Given the description of an element on the screen output the (x, y) to click on. 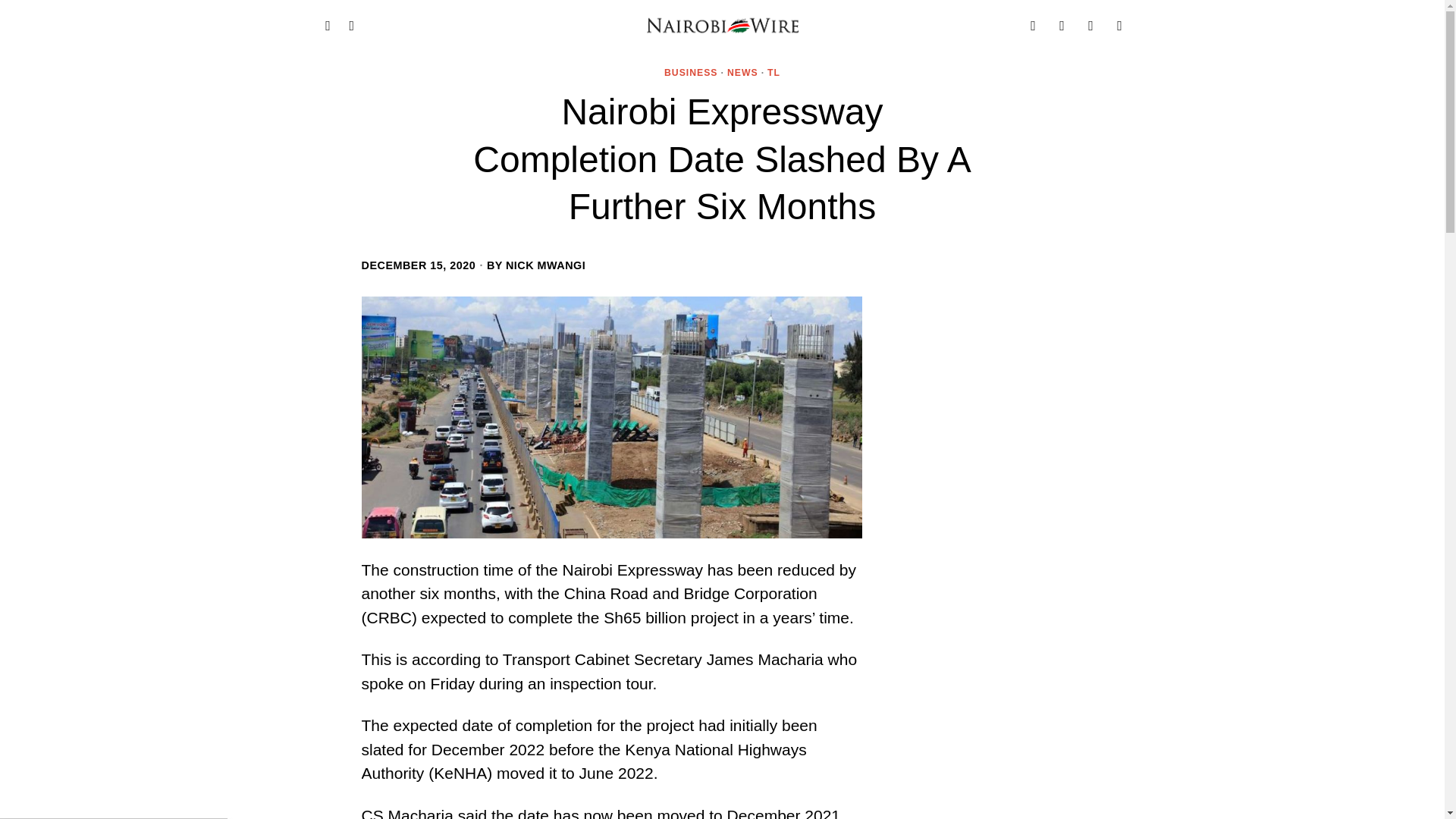
NEWS (742, 73)
NICK MWANGI (545, 264)
TL (773, 73)
15 Dec, 2020 06:29:48 (418, 264)
BUSINESS (690, 73)
